Given the description of an element on the screen output the (x, y) to click on. 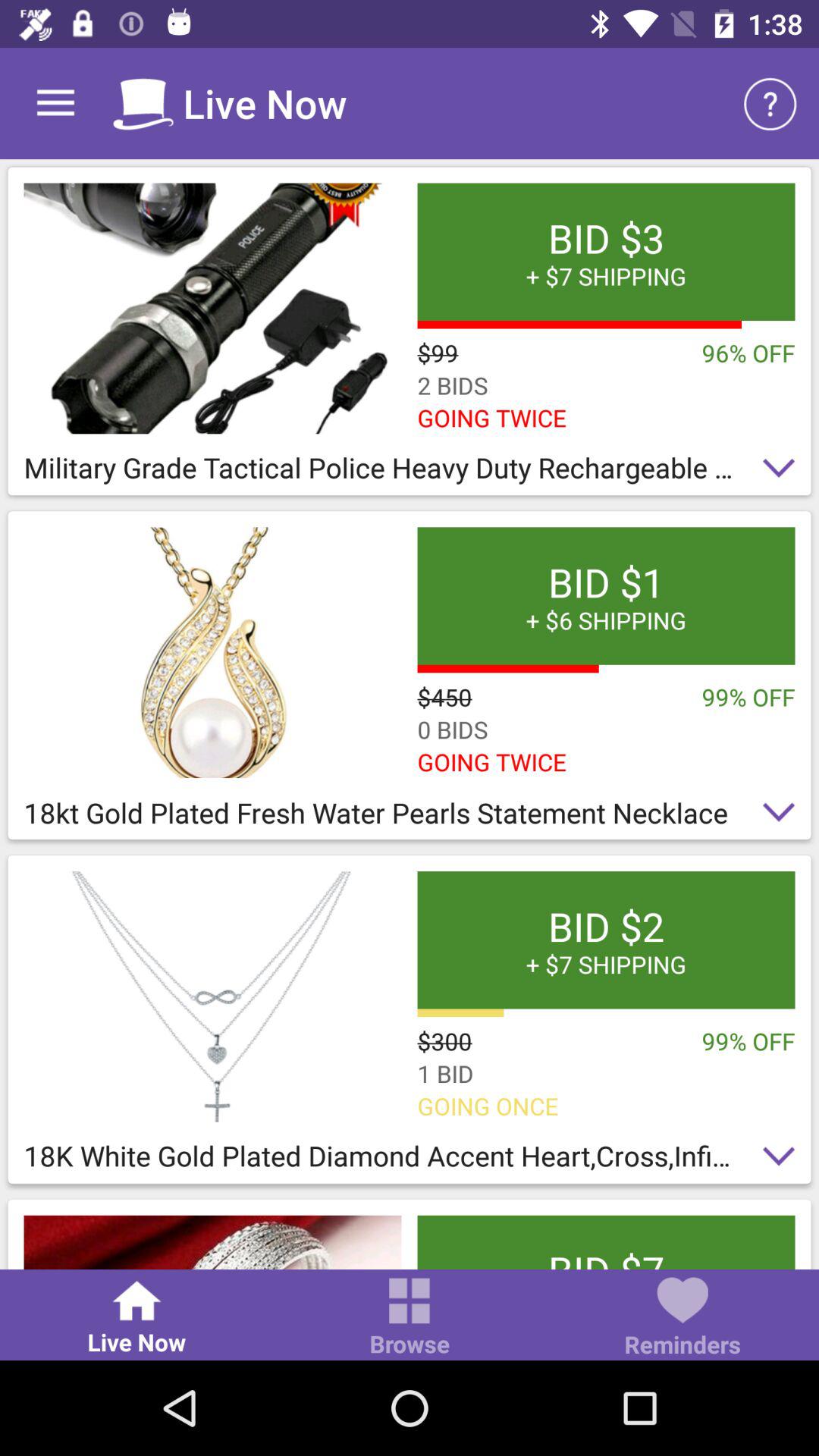
go to image (212, 308)
